Given the description of an element on the screen output the (x, y) to click on. 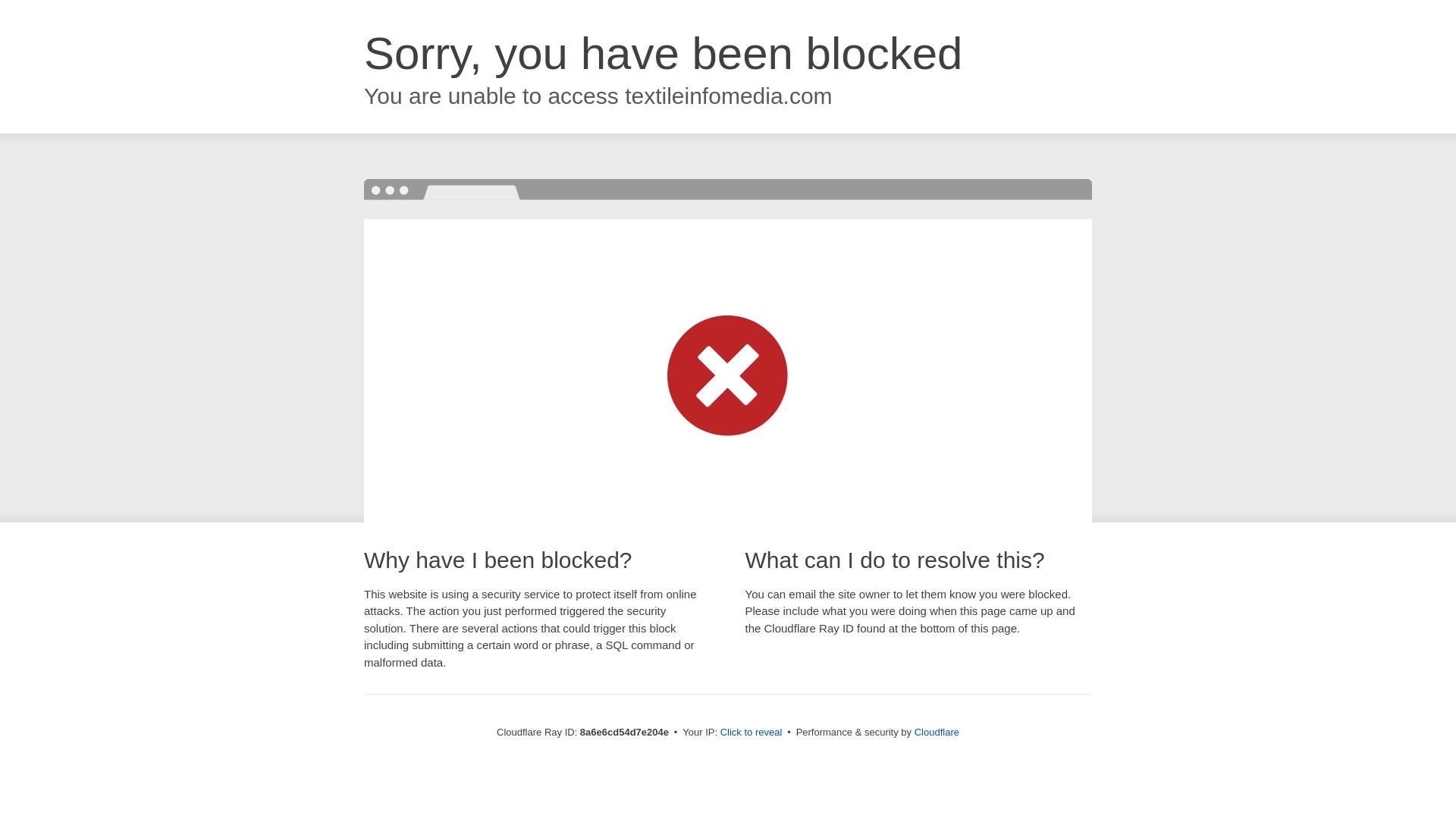
Cloudflare (936, 731)
Click to reveal (751, 732)
